Given the description of an element on the screen output the (x, y) to click on. 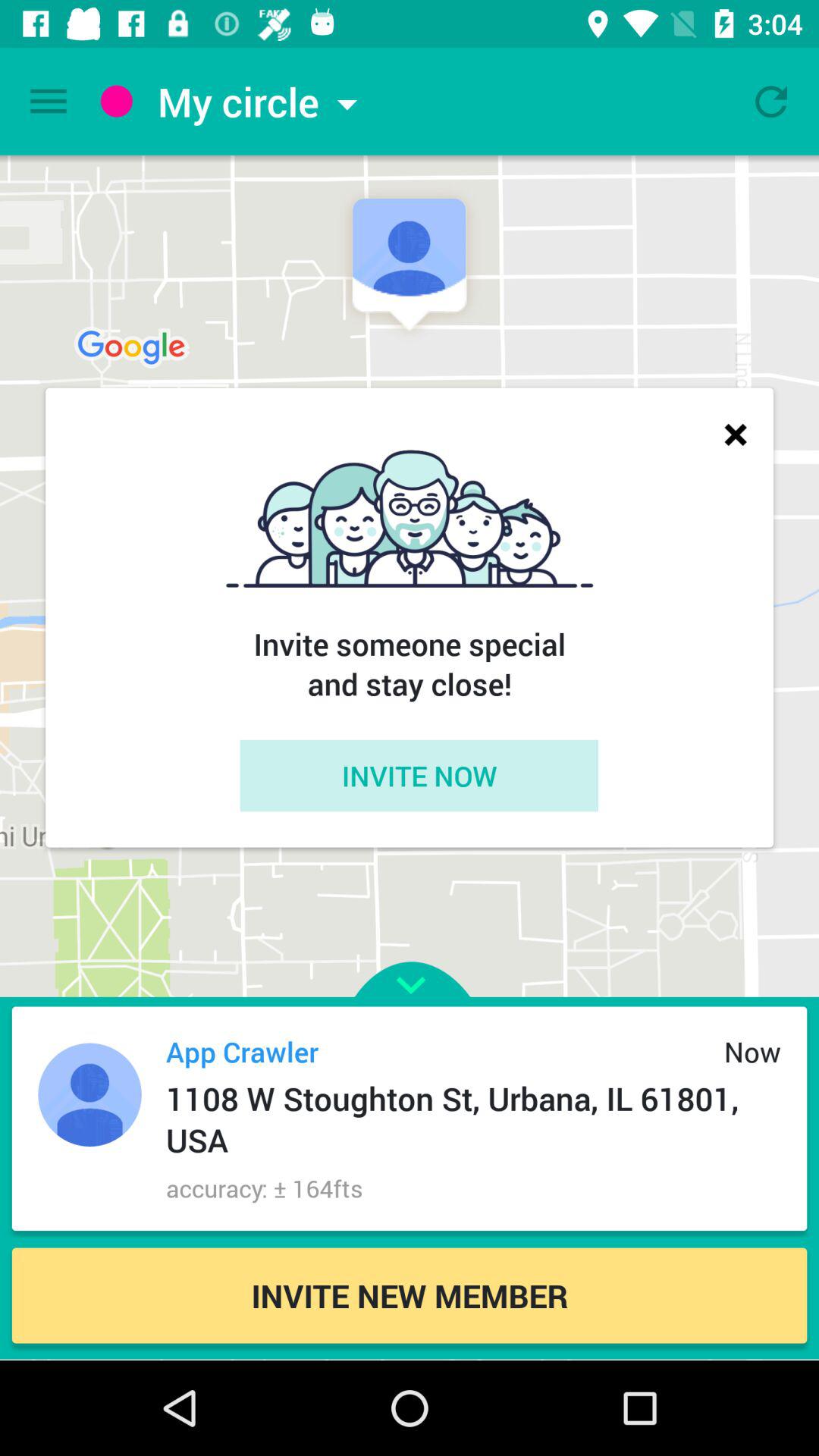
refresh (771, 101)
